Given the description of an element on the screen output the (x, y) to click on. 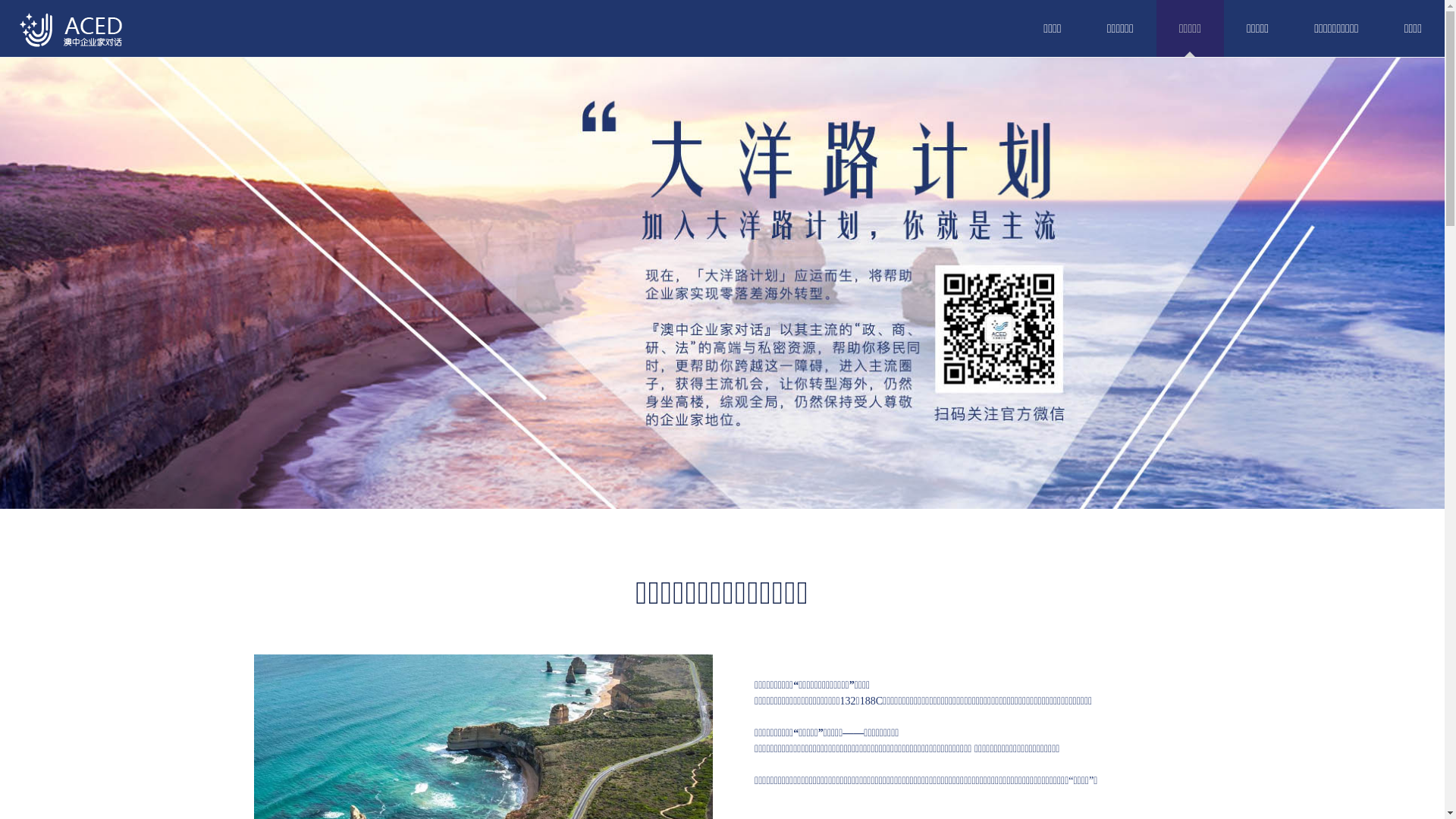
ss2 Element type: hover (722, 282)
